Given the description of an element on the screen output the (x, y) to click on. 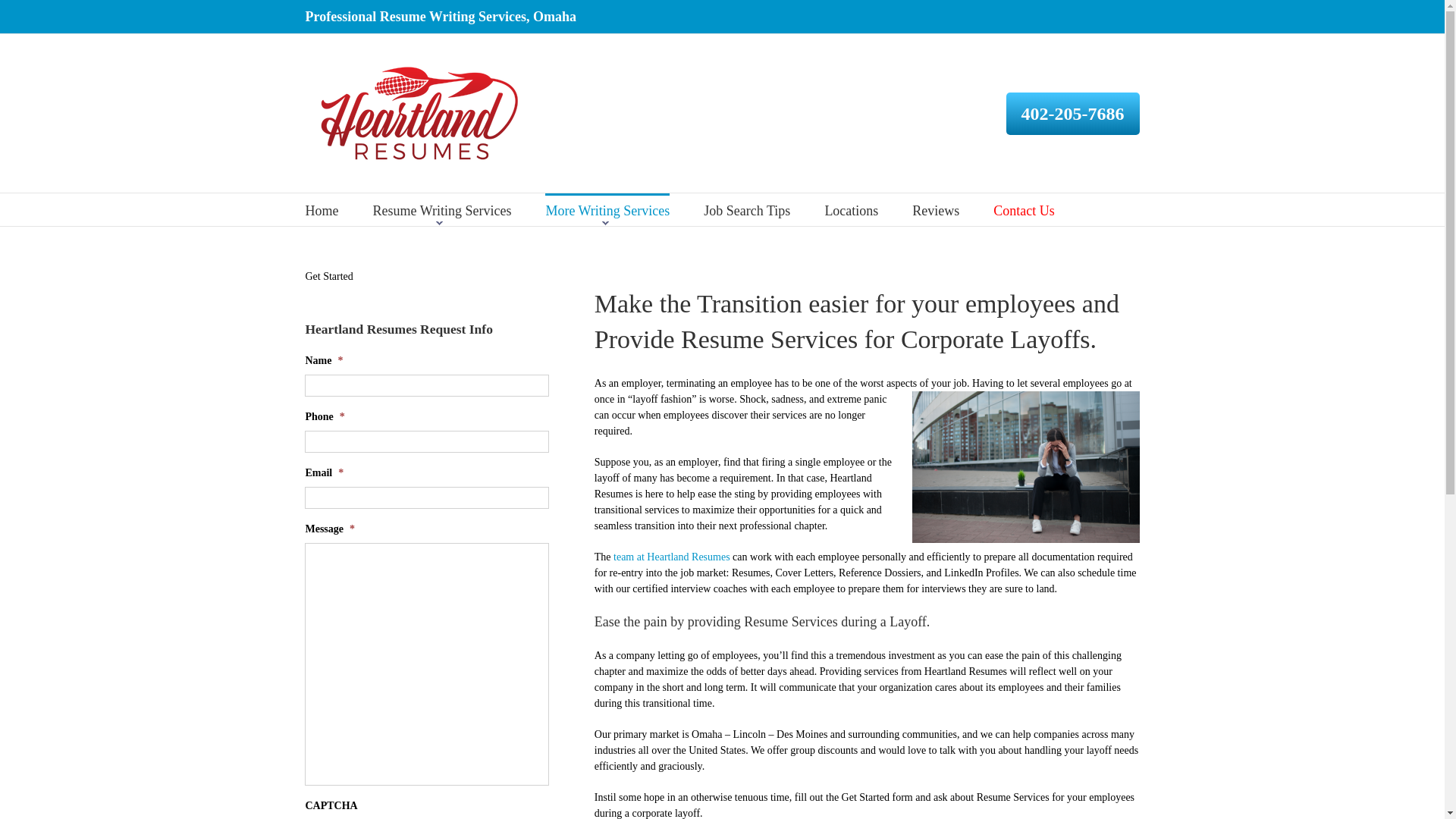
More Writing Services (606, 209)
402-205-7686 (1073, 113)
Reviews (935, 209)
Resume Writing Services (442, 209)
Contact Us (1023, 209)
team at Heartland Resumes (671, 556)
Home (320, 209)
Job Search Tips (746, 209)
Locations (850, 209)
